Given the description of an element on the screen output the (x, y) to click on. 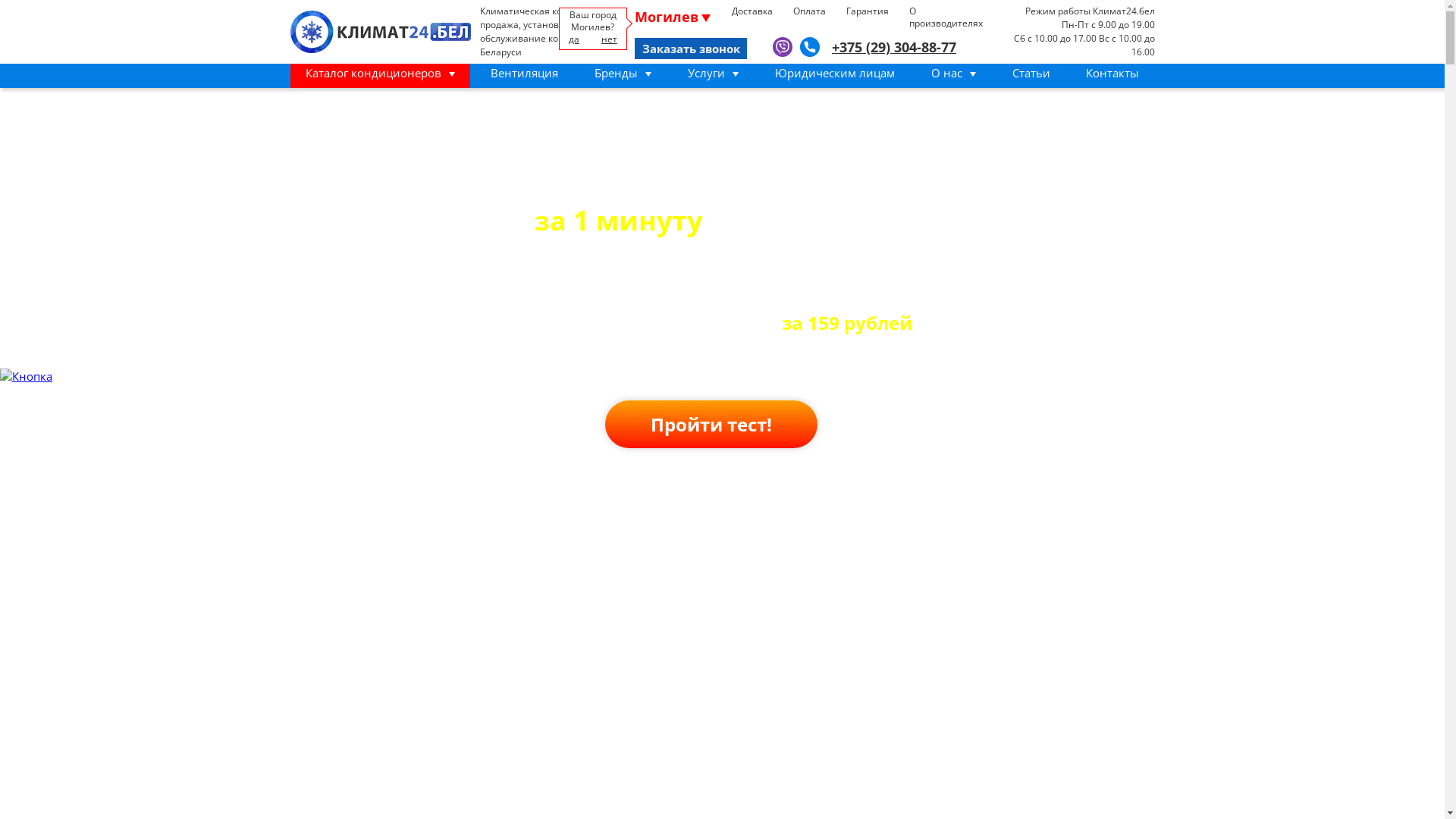
+375 (29) 304-88-77 Element type: text (893, 46)
